Given the description of an element on the screen output the (x, y) to click on. 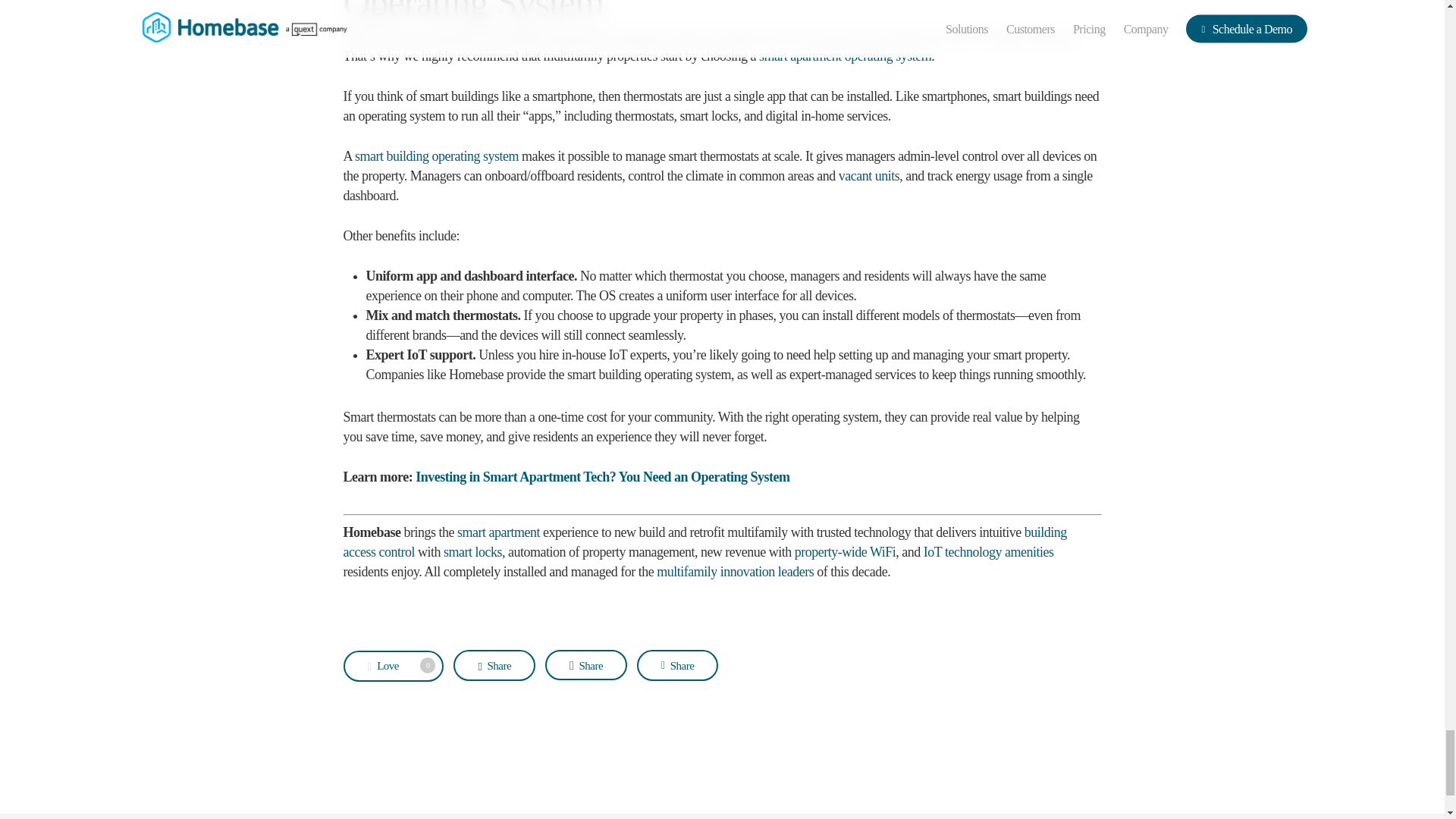
Share this (585, 665)
Share this (677, 665)
Share this (493, 665)
Love this (393, 665)
